Given the description of an element on the screen output the (x, y) to click on. 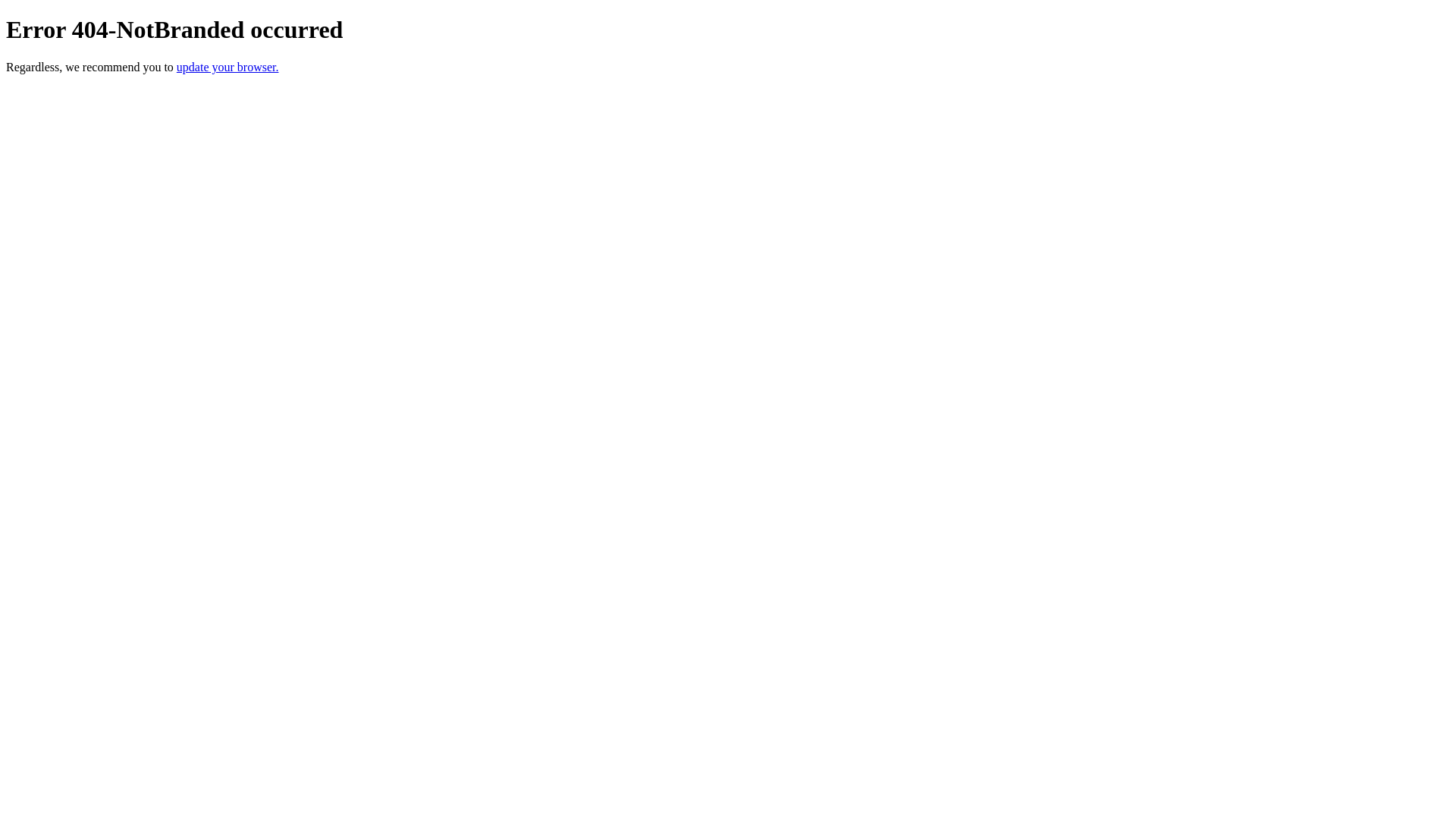
update your browser. Element type: text (227, 66)
